Given the description of an element on the screen output the (x, y) to click on. 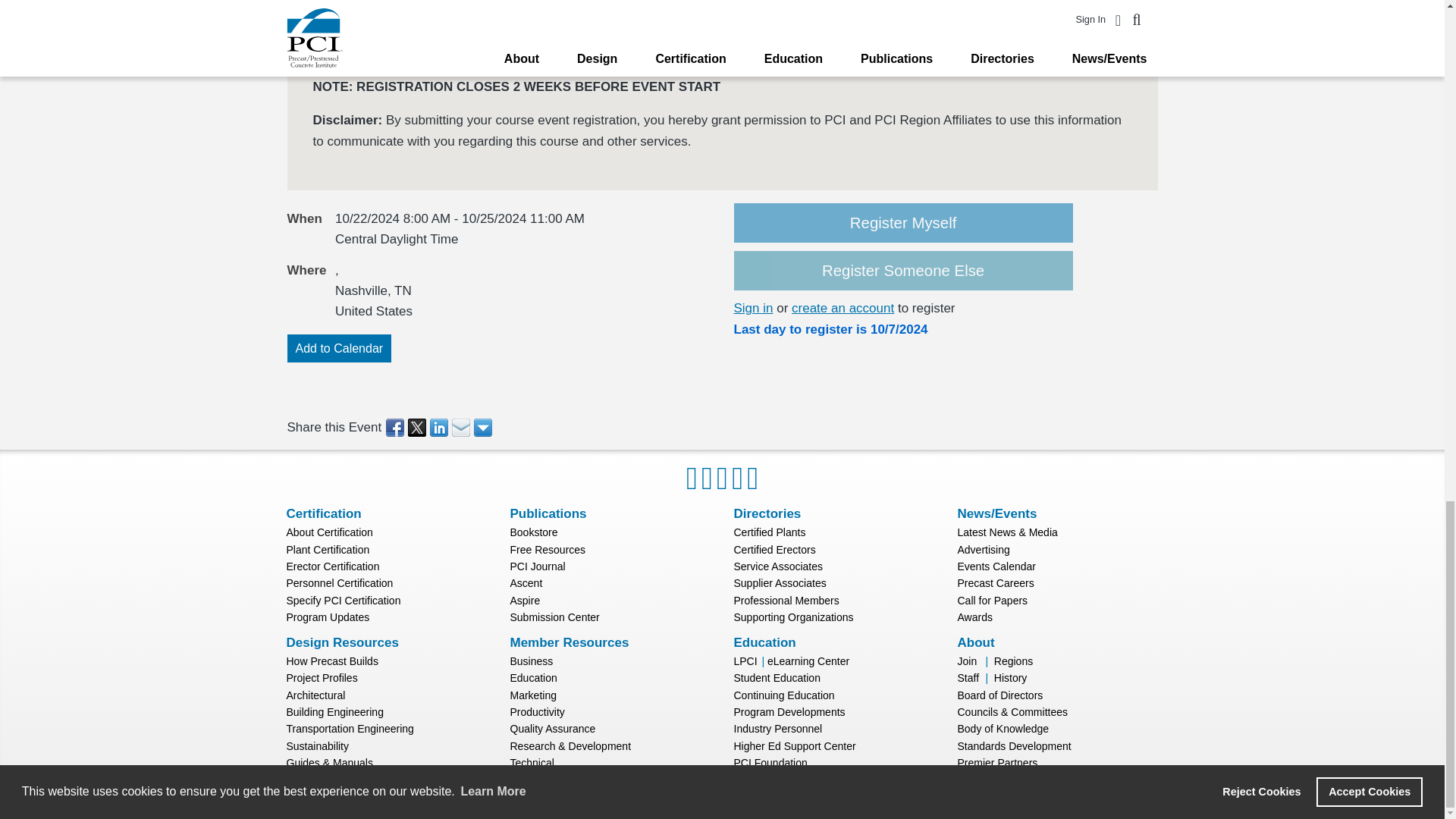
Share on LinkedIn (439, 427)
Share on Facebook (395, 427)
create an account (842, 308)
Register Myself (903, 223)
Share on Facebook (395, 427)
Tweet this (417, 427)
Add to Calendar (338, 348)
Register Someone Else (903, 270)
Register Myself (903, 223)
Register Someone Else (903, 270)
